Given the description of an element on the screen output the (x, y) to click on. 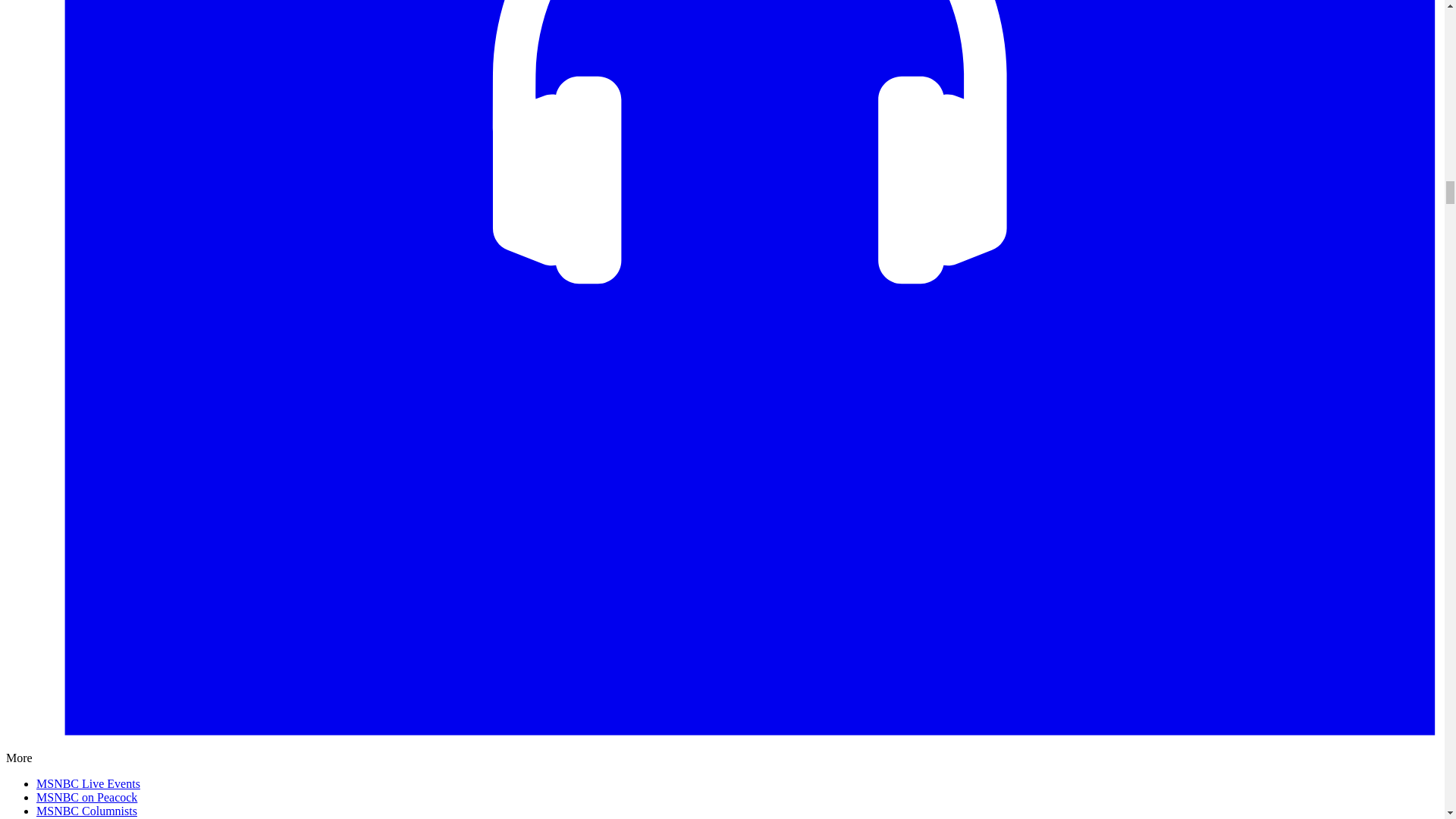
MSNBC Live Events (87, 783)
MSNBC on Peacock (86, 797)
